Given the description of an element on the screen output the (x, y) to click on. 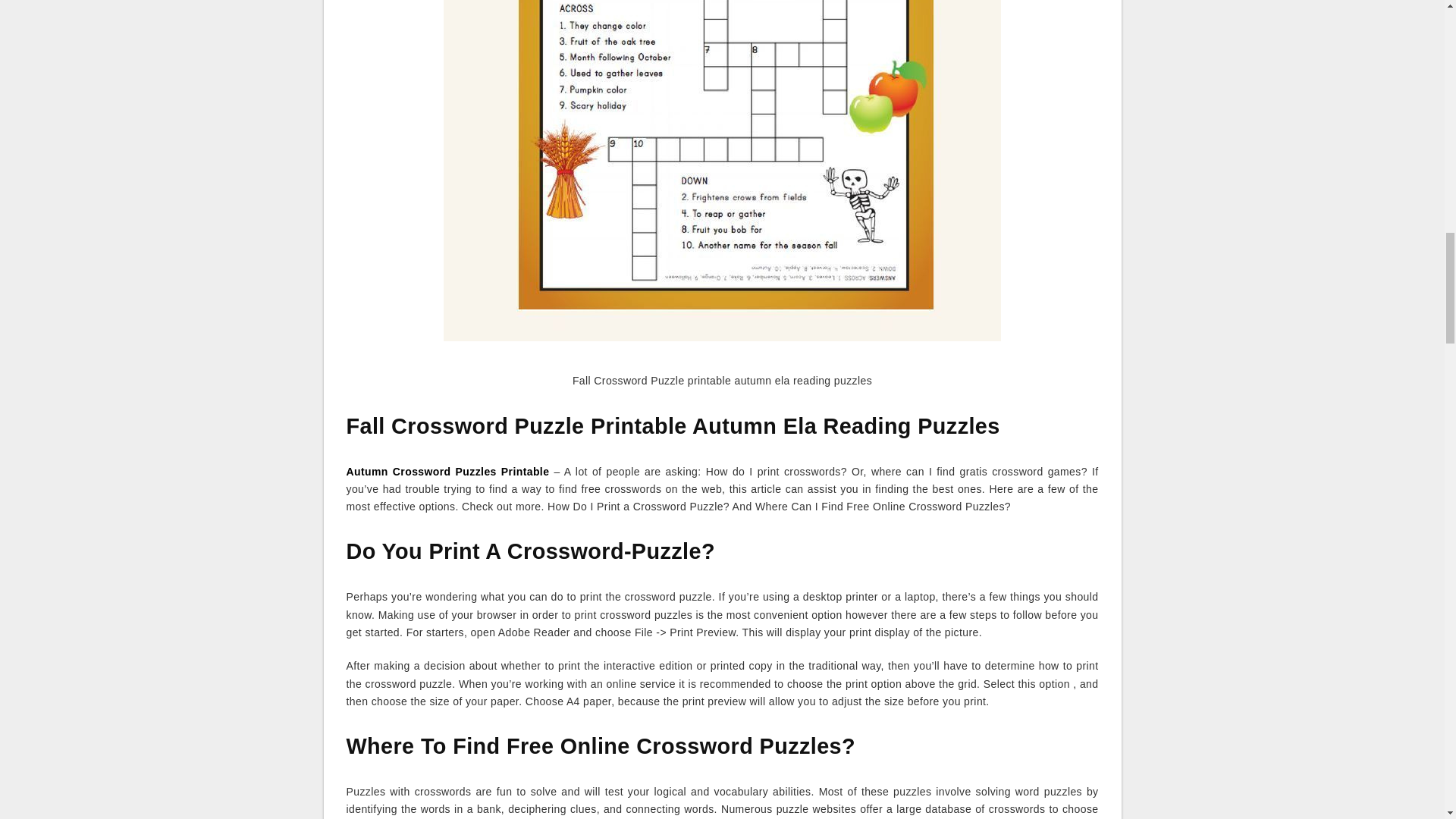
Autumn Crossword Puzzles Printable (447, 471)
